Given the description of an element on the screen output the (x, y) to click on. 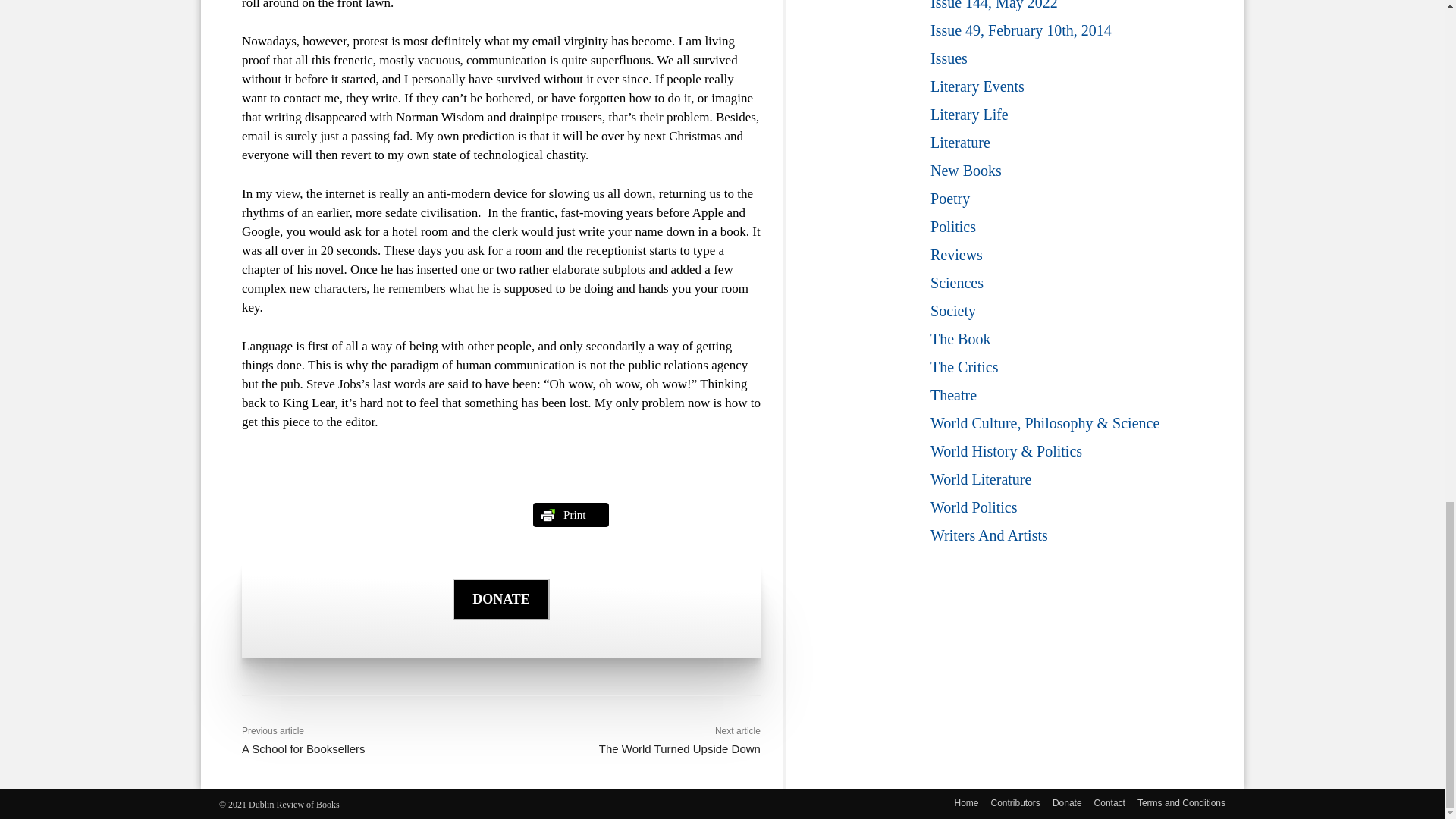
A School for Booksellers (303, 748)
The World Turned Upside Down (679, 748)
DONATE (501, 614)
DONATE (501, 598)
